Given the description of an element on the screen output the (x, y) to click on. 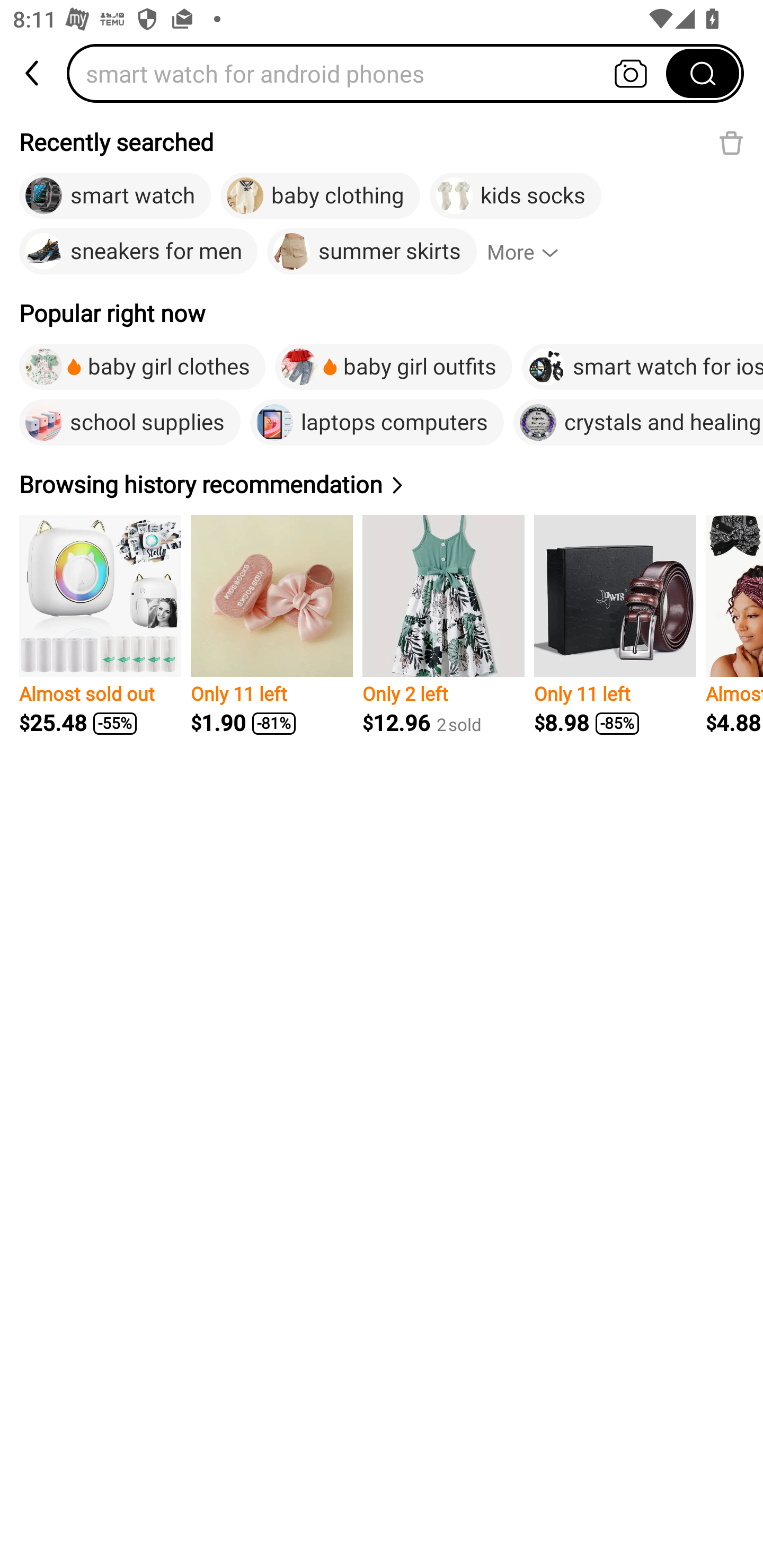
back (33, 72)
smart watch for android phones (372, 73)
Search by photo (630, 73)
Delete recent search (731, 142)
smart watch (114, 195)
baby clothing (320, 195)
kids socks (515, 195)
sneakers for men (138, 251)
summer skirts (371, 251)
More (530, 251)
baby girl clothes (142, 366)
baby girl outfits (393, 366)
smart watch for ios phones (642, 366)
school supplies (129, 422)
laptops computers (376, 422)
crystals and healing stones (638, 422)
Browsing history recommendation (213, 484)
Almost sold out $25.48 -55% (100, 625)
Only 11 left $1.90 -81% (271, 625)
Only 2 left $12.96 2￼sold (443, 625)
Only 11 left $8.98 -85% (614, 625)
